Given the description of an element on the screen output the (x, y) to click on. 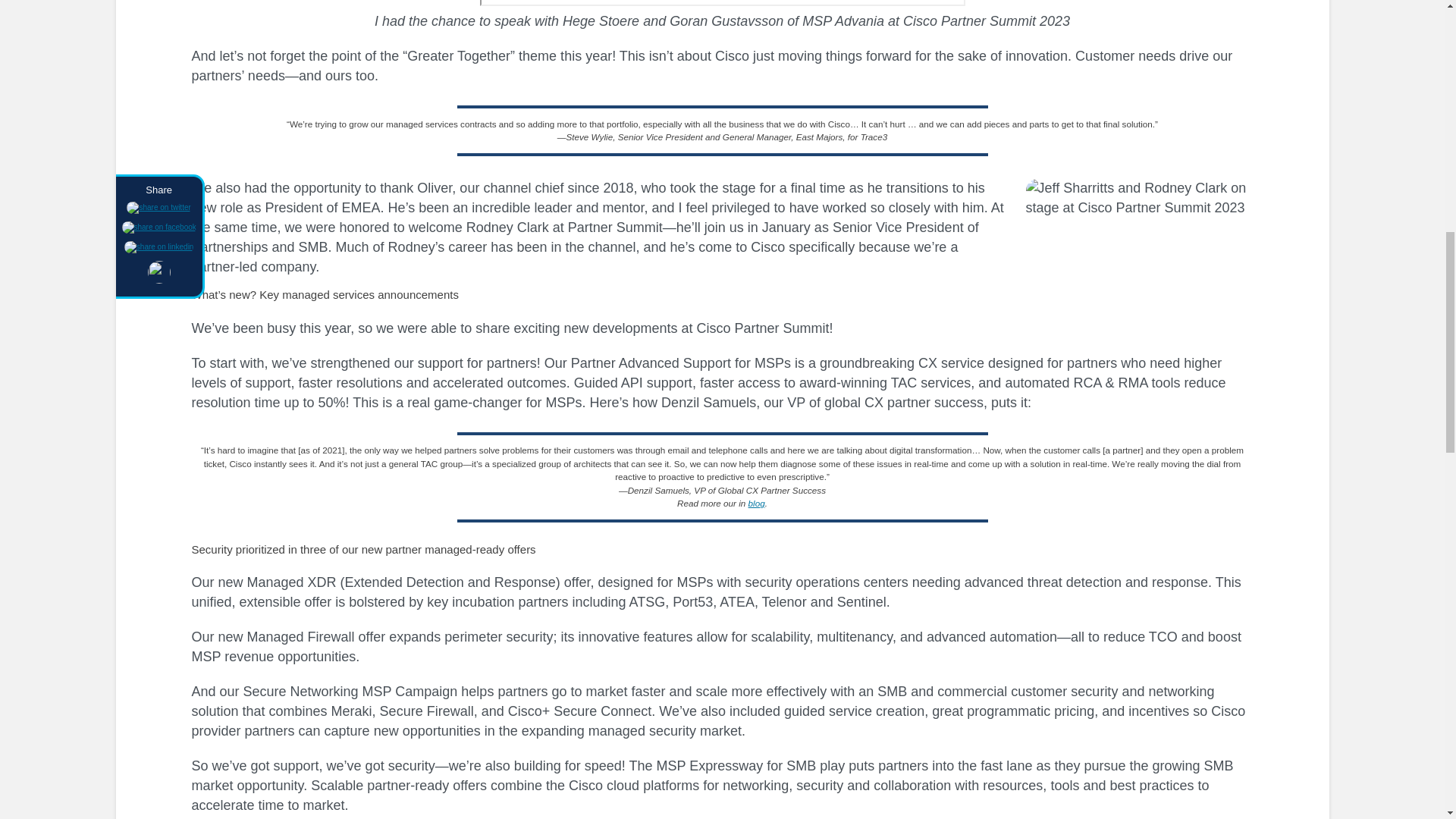
blog (756, 502)
